Given the description of an element on the screen output the (x, y) to click on. 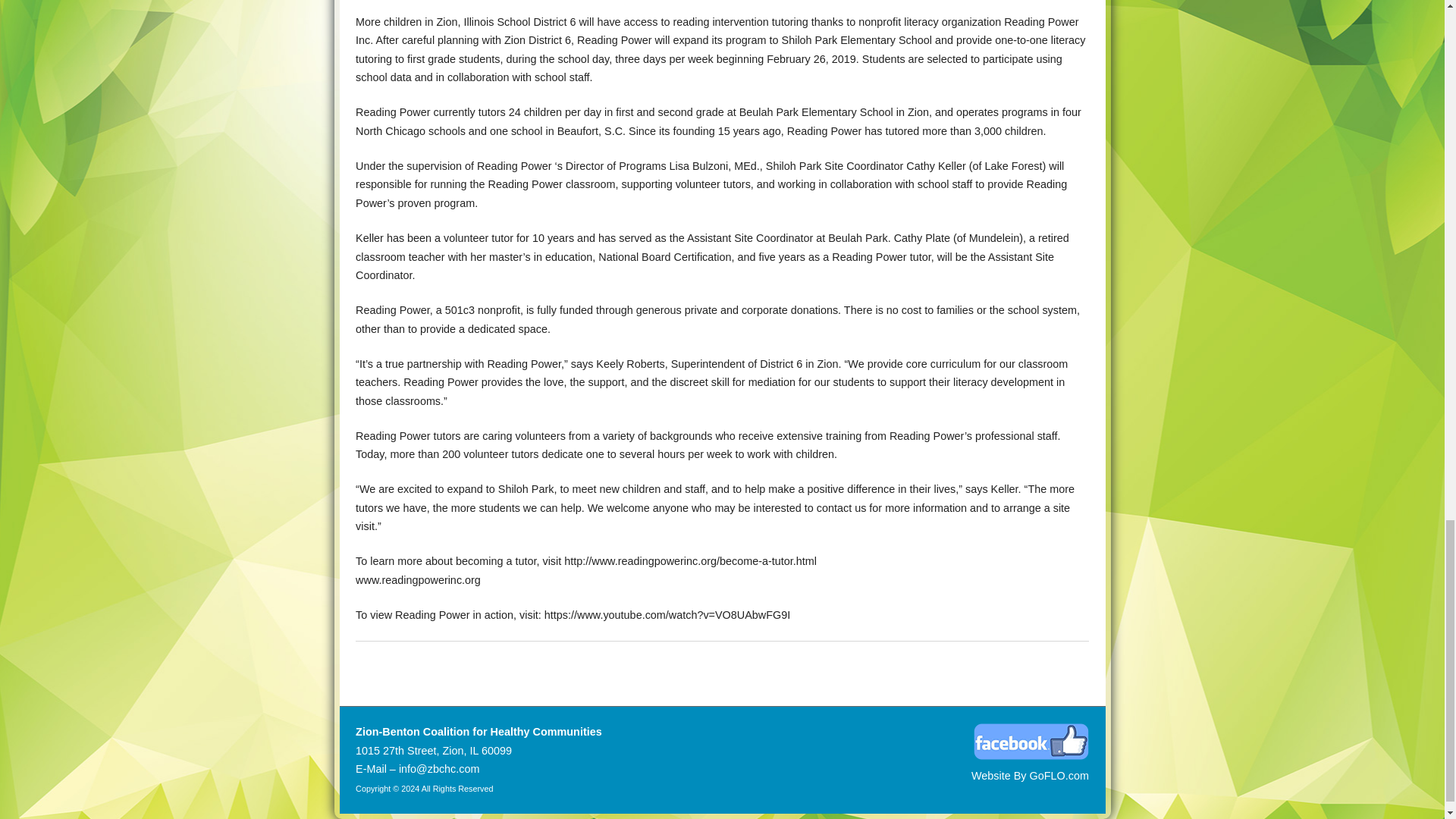
GoFLO.com (1059, 775)
